Given the description of an element on the screen output the (x, y) to click on. 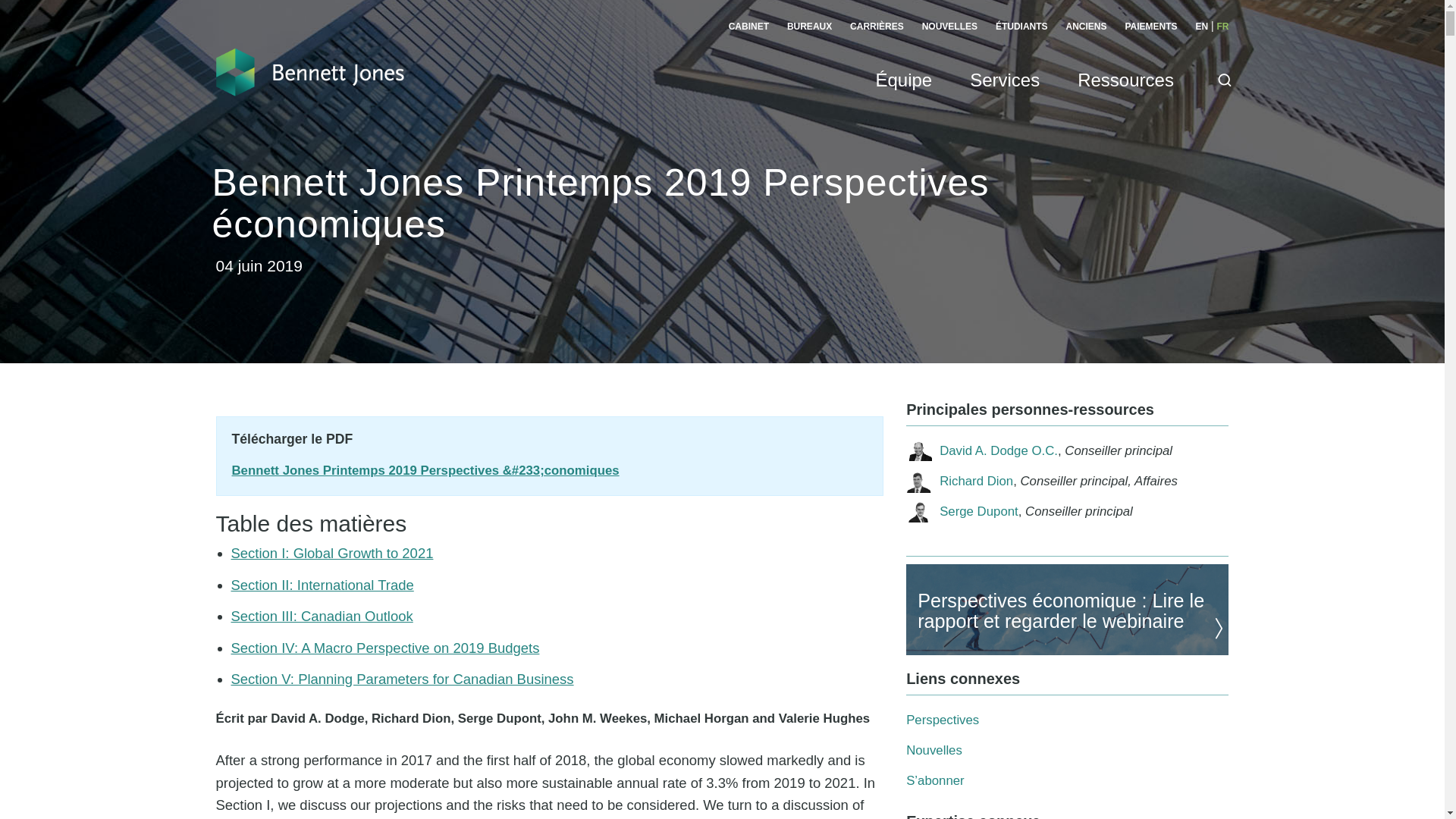
Section V: Planning Parameters for Canadian Business (401, 678)
BUREAUX (809, 26)
Ressources (1125, 97)
Section III: Canadian Outlook (321, 616)
NOUVELLES (948, 26)
Section IV: A Macro Perspective on 2019 Budgets (384, 647)
EN (1201, 26)
Services (1004, 97)
Section II: International Trade (321, 584)
Section I: Global Growth to 2021 (331, 553)
